Given the description of an element on the screen output the (x, y) to click on. 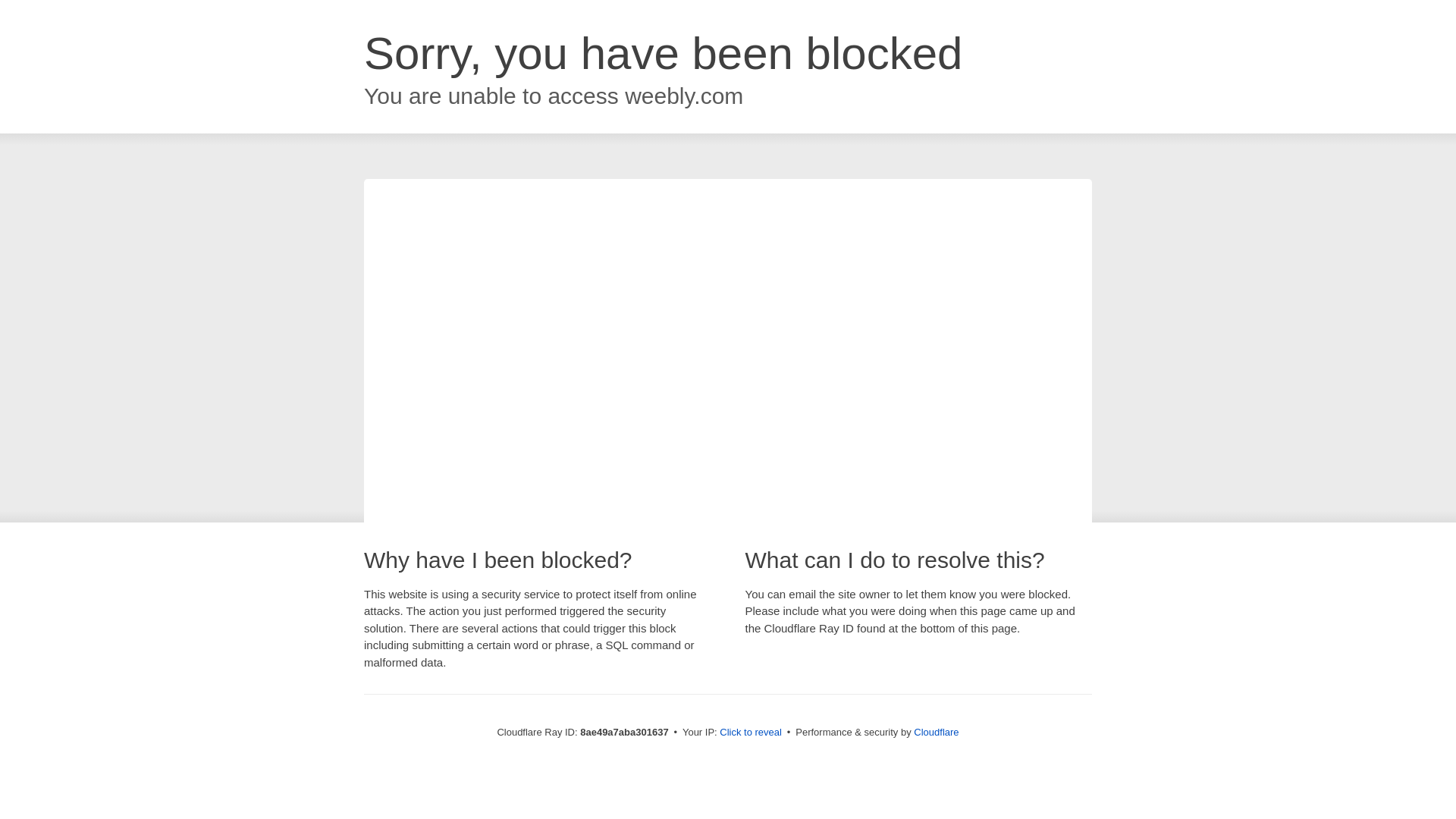
Cloudflare (936, 731)
Click to reveal (750, 732)
